Given the description of an element on the screen output the (x, y) to click on. 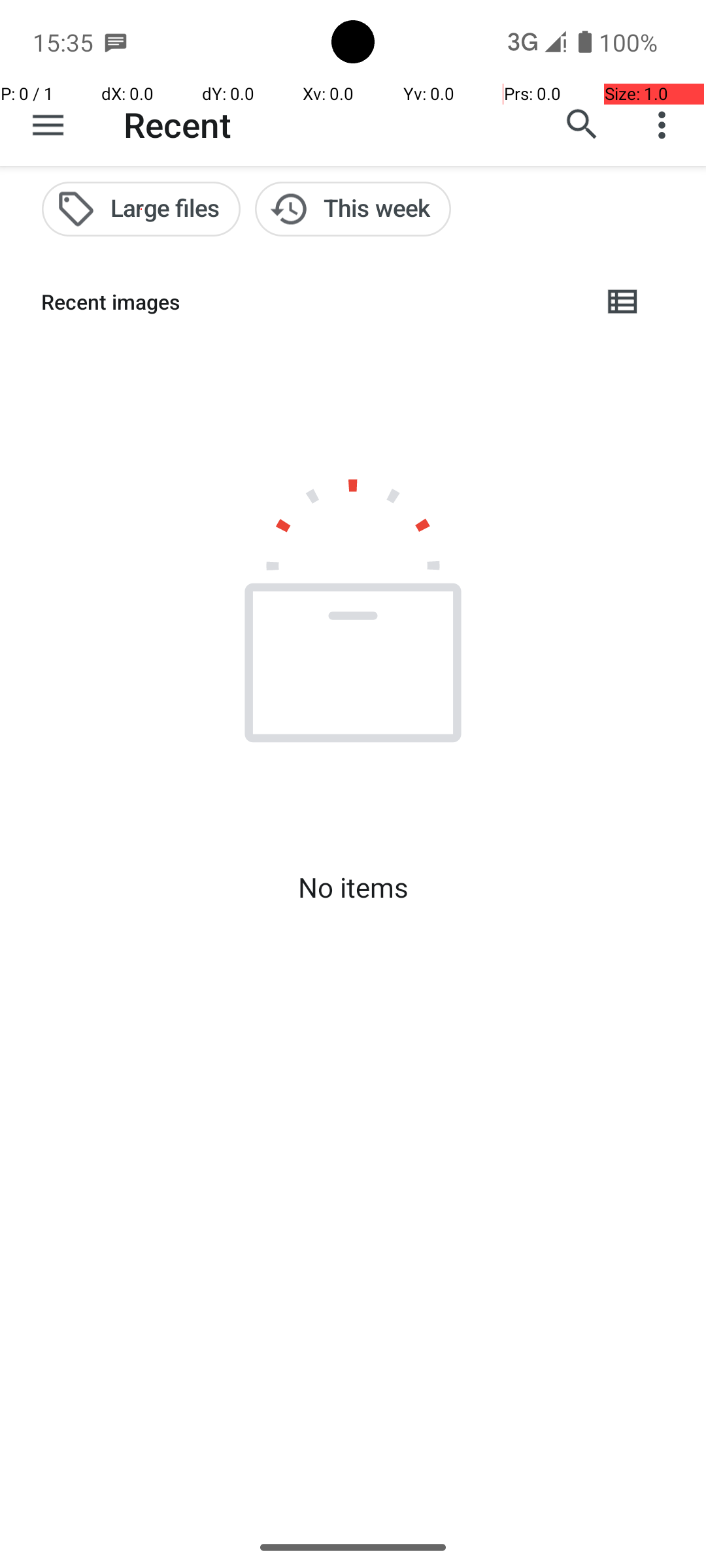
Recent images Element type: android.widget.TextView (311, 301)
